Given the description of an element on the screen output the (x, y) to click on. 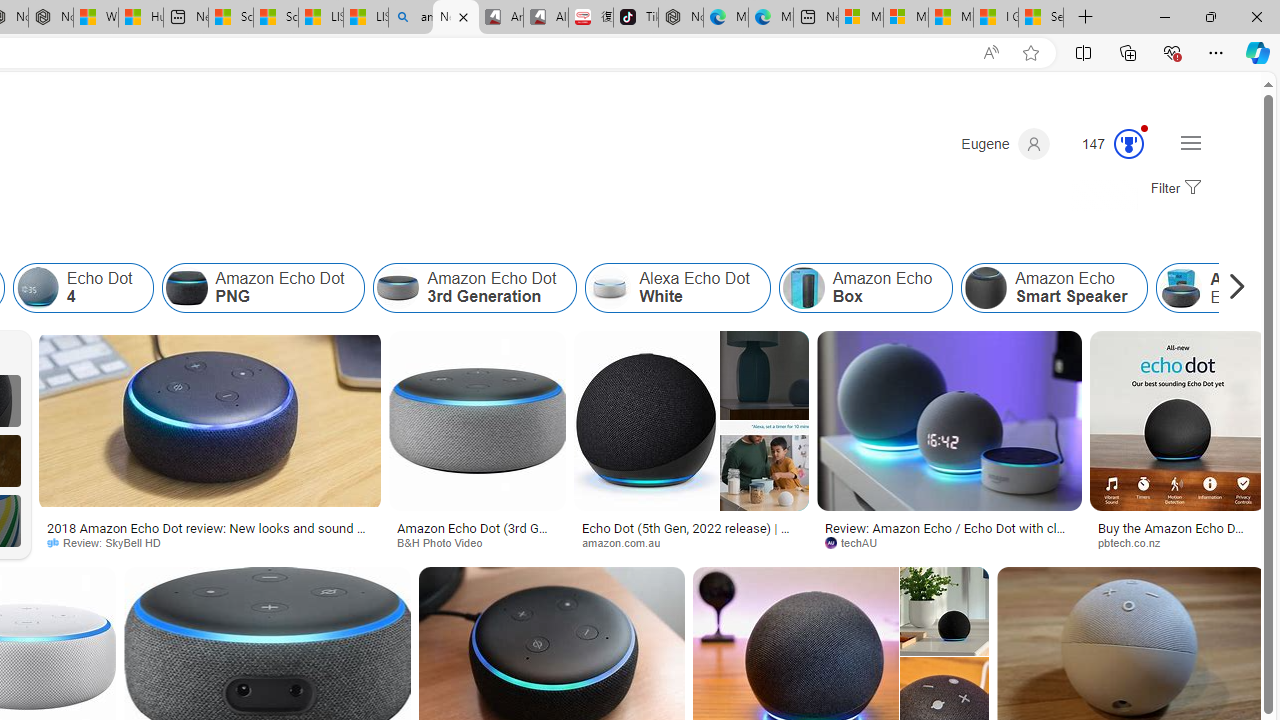
Scroll right (1231, 287)
Alex Echo Dot (1181, 287)
Class: outer-circle-animation (1129, 143)
Echo Dot 4 (82, 287)
Microsoft Rewards 144 (1105, 143)
TikTok (635, 17)
B&H Photo Video (446, 541)
B&H Photo Video (477, 542)
